Given the description of an element on the screen output the (x, y) to click on. 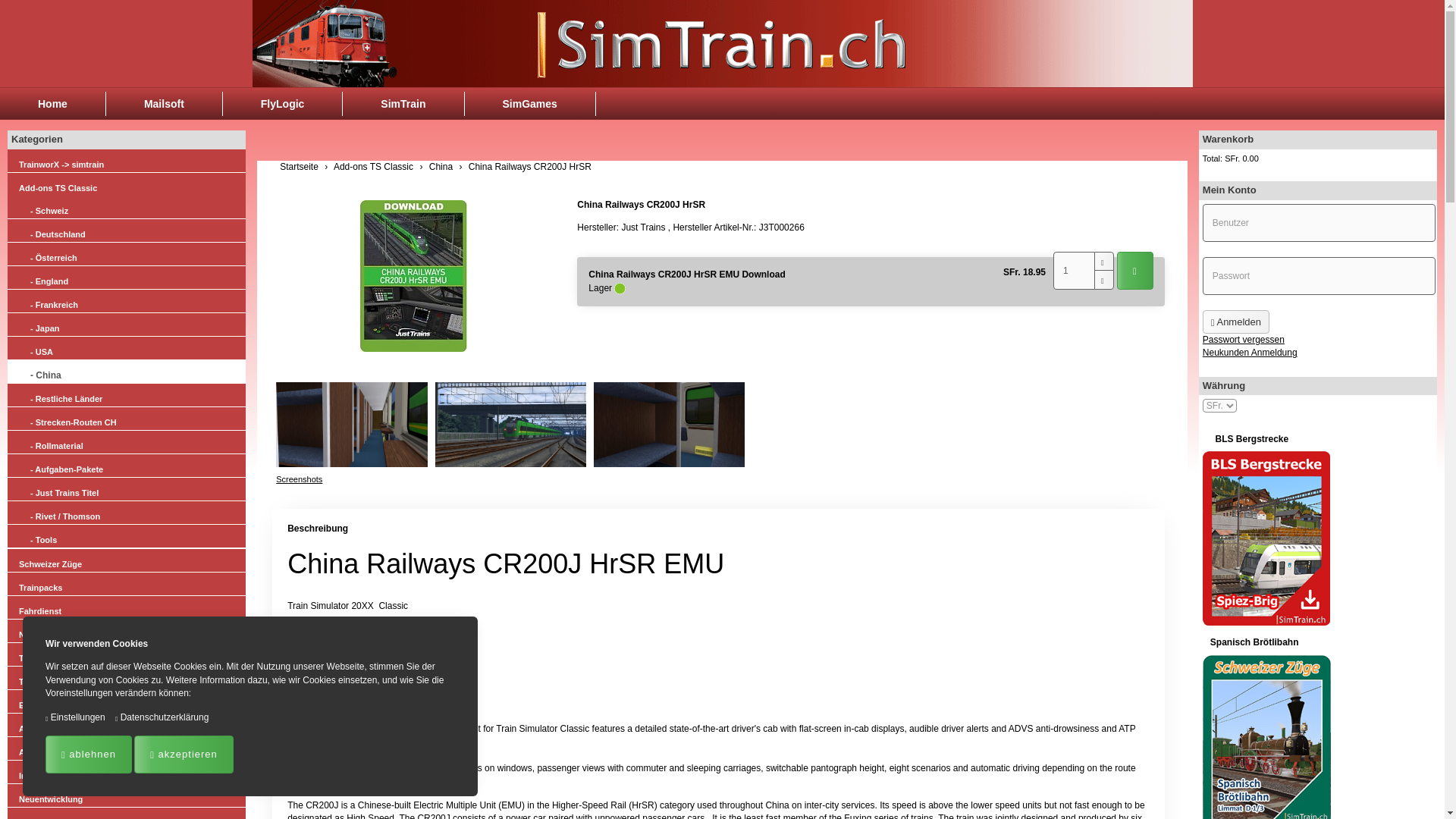
In Warenkorb (1134, 270)
1 (1073, 270)
Artikel an Lager (620, 288)
ablehnen (88, 754)
akzeptieren (182, 754)
Menge (1073, 270)
Einstellungen (74, 717)
